Given the description of an element on the screen output the (x, y) to click on. 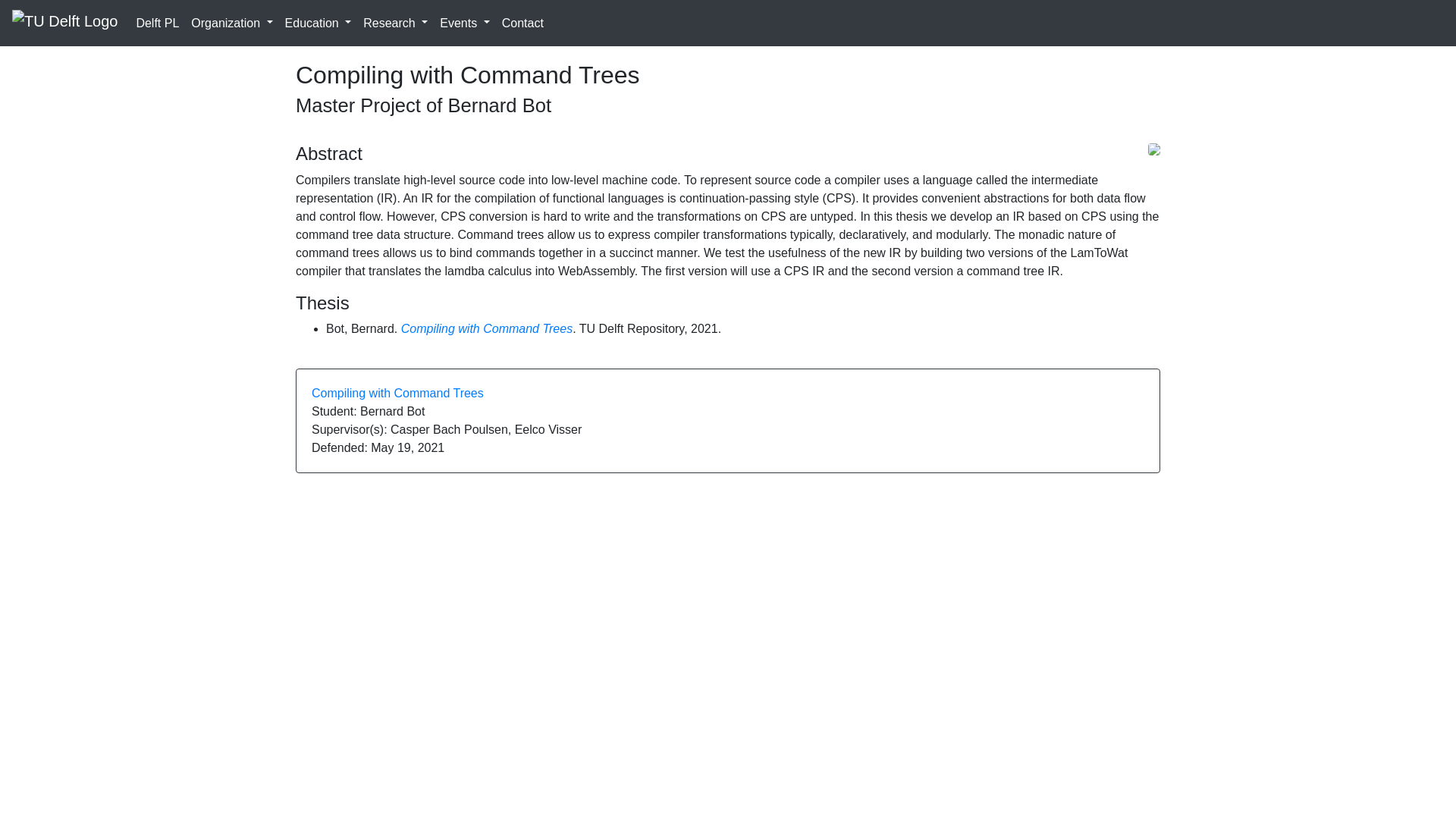
Organization (231, 22)
Education (318, 22)
Delft PL (156, 22)
Compiling with Command Trees (397, 392)
Contact (523, 22)
Events (464, 22)
Compiling with Command Trees (486, 328)
Research (394, 22)
